Given the description of an element on the screen output the (x, y) to click on. 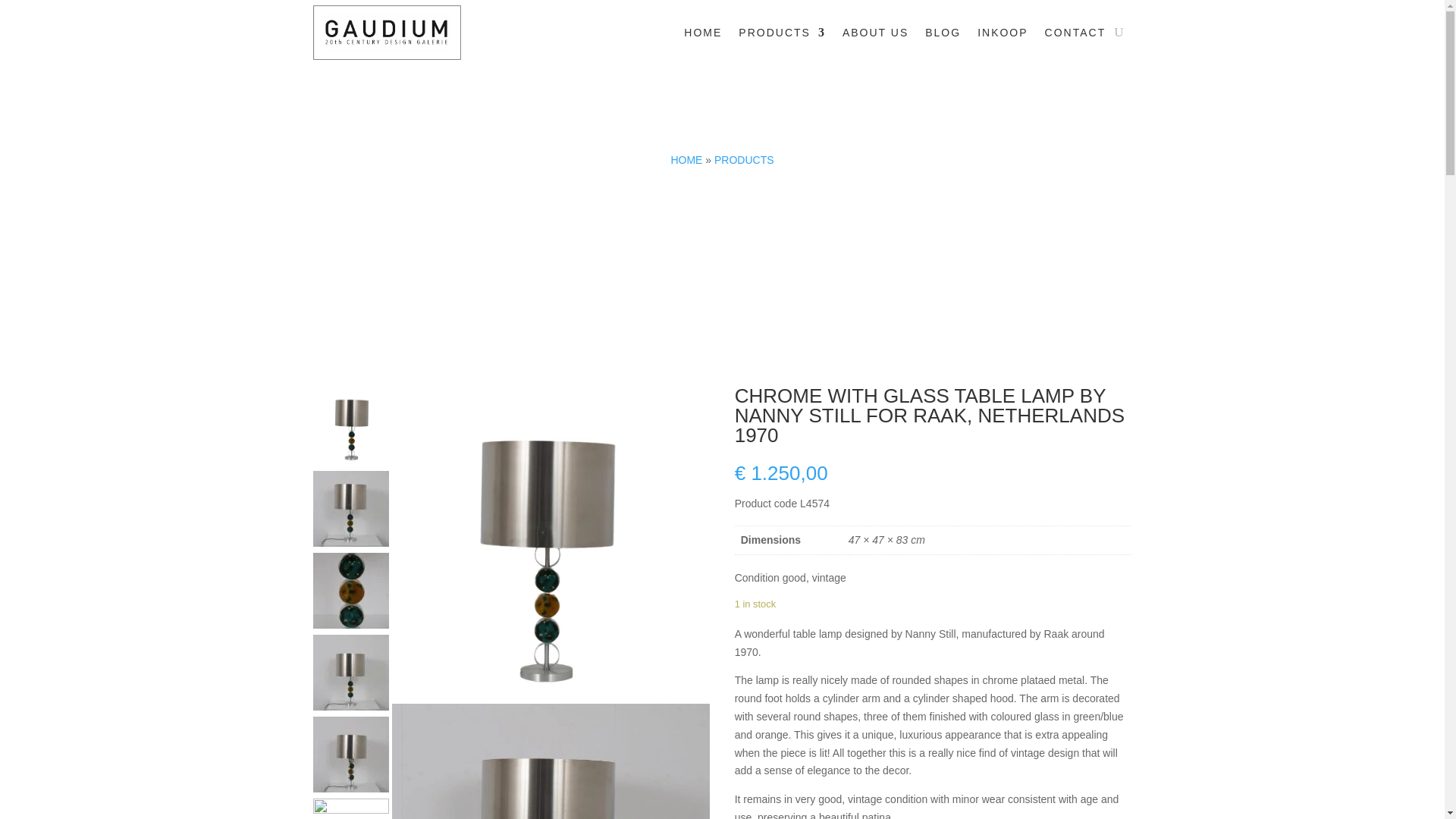
PRODUCTS (744, 159)
PRODUCTS (781, 32)
BLOG (942, 32)
INKOOP (1001, 32)
ABOUT US (875, 32)
HOME (685, 159)
CONTACT (1075, 32)
HOME (703, 32)
